Given the description of an element on the screen output the (x, y) to click on. 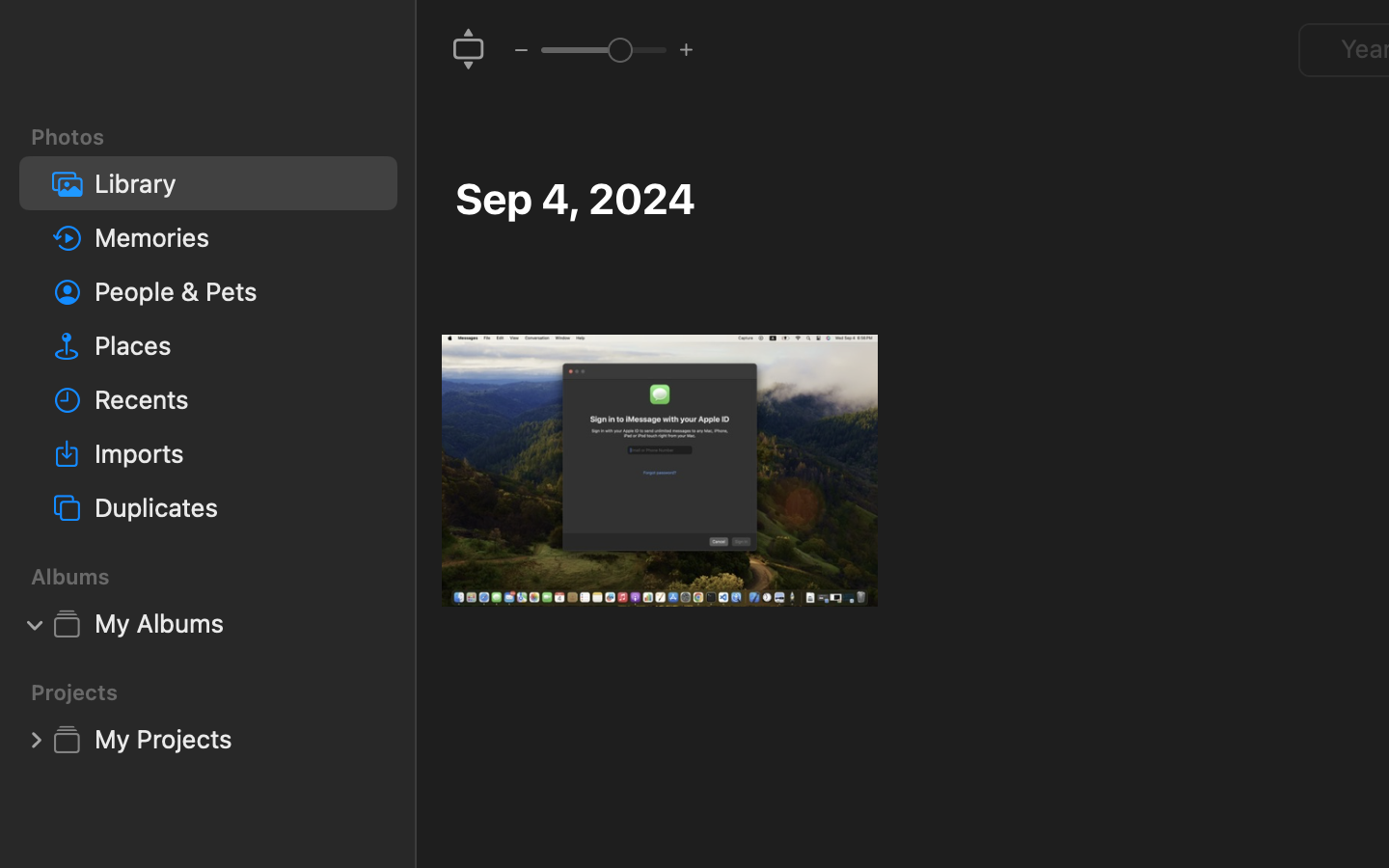
My Projects Element type: AXStaticText (237, 738)
Places Element type: AXStaticText (237, 344)
0 Element type: AXCheckBox (468, 50)
Photos Element type: AXStaticText (219, 136)
Recents Element type: AXStaticText (237, 398)
